Given the description of an element on the screen output the (x, y) to click on. 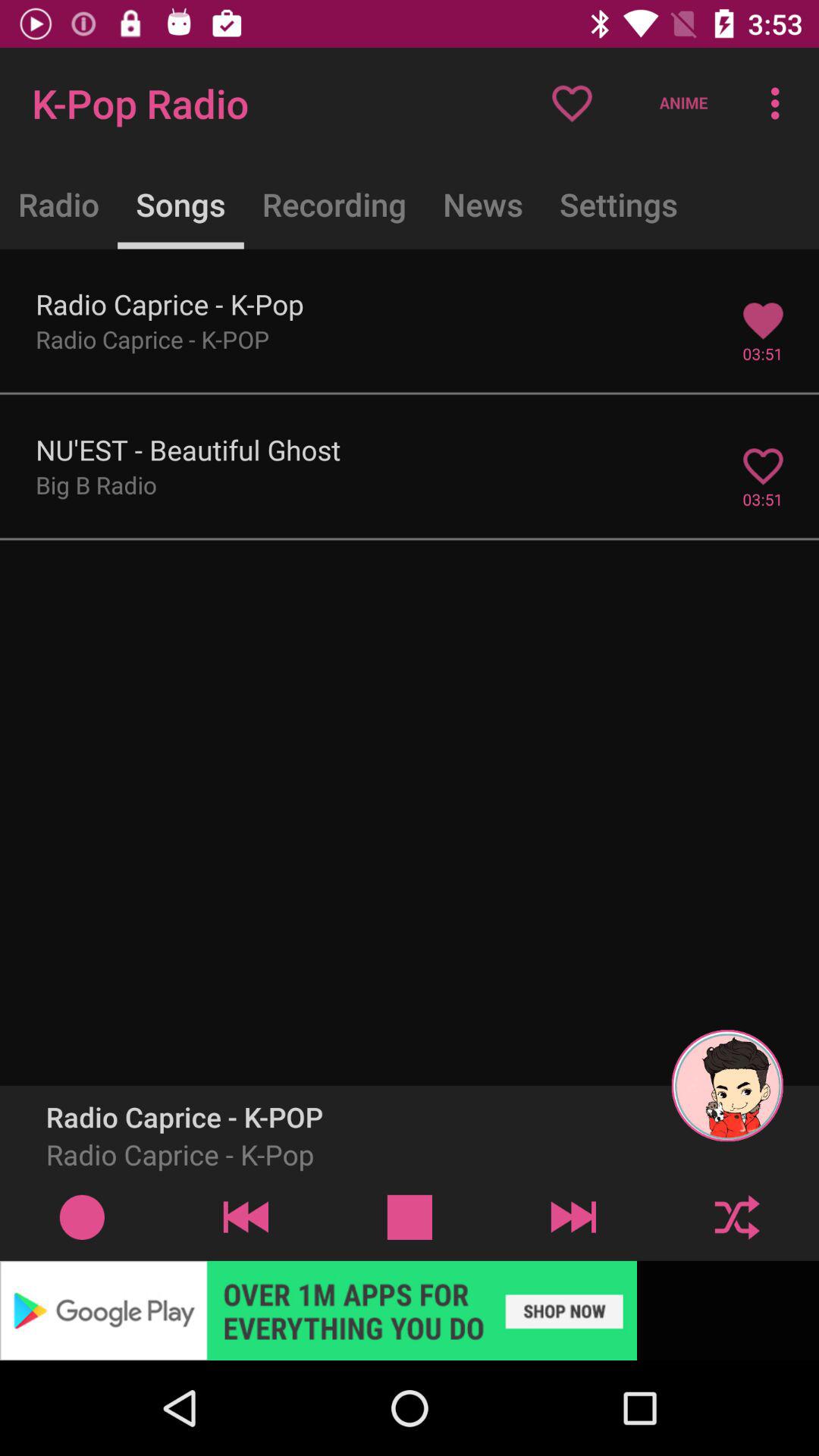
share the article (409, 1310)
